Given the description of an element on the screen output the (x, y) to click on. 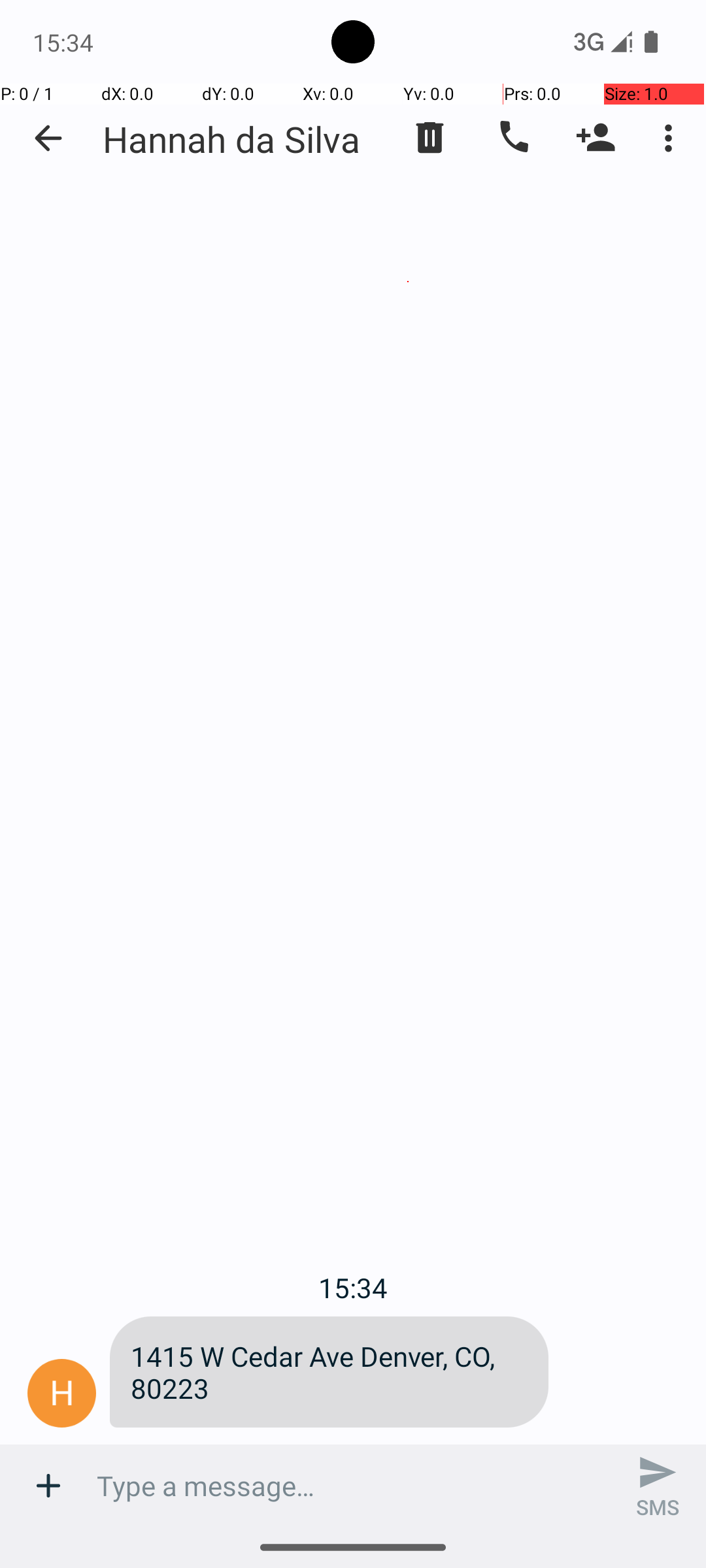
Hannah da Silva Element type: android.widget.TextView (231, 138)
1415 W Cedar Ave Denver, CO, 80223 Element type: android.widget.TextView (328, 1371)
